Given the description of an element on the screen output the (x, y) to click on. 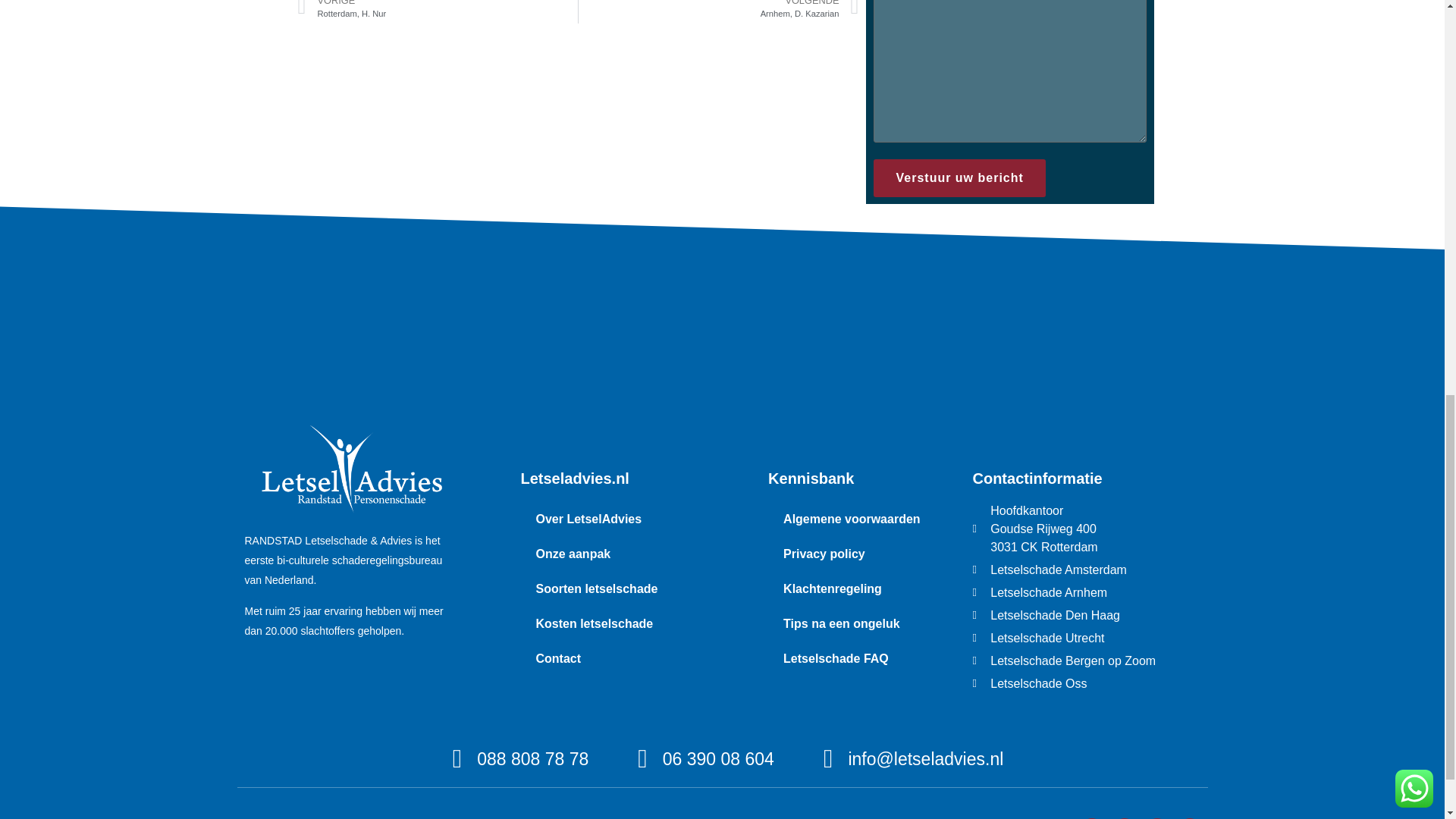
Verstuur uw bericht (959, 177)
